Given the description of an element on the screen output the (x, y) to click on. 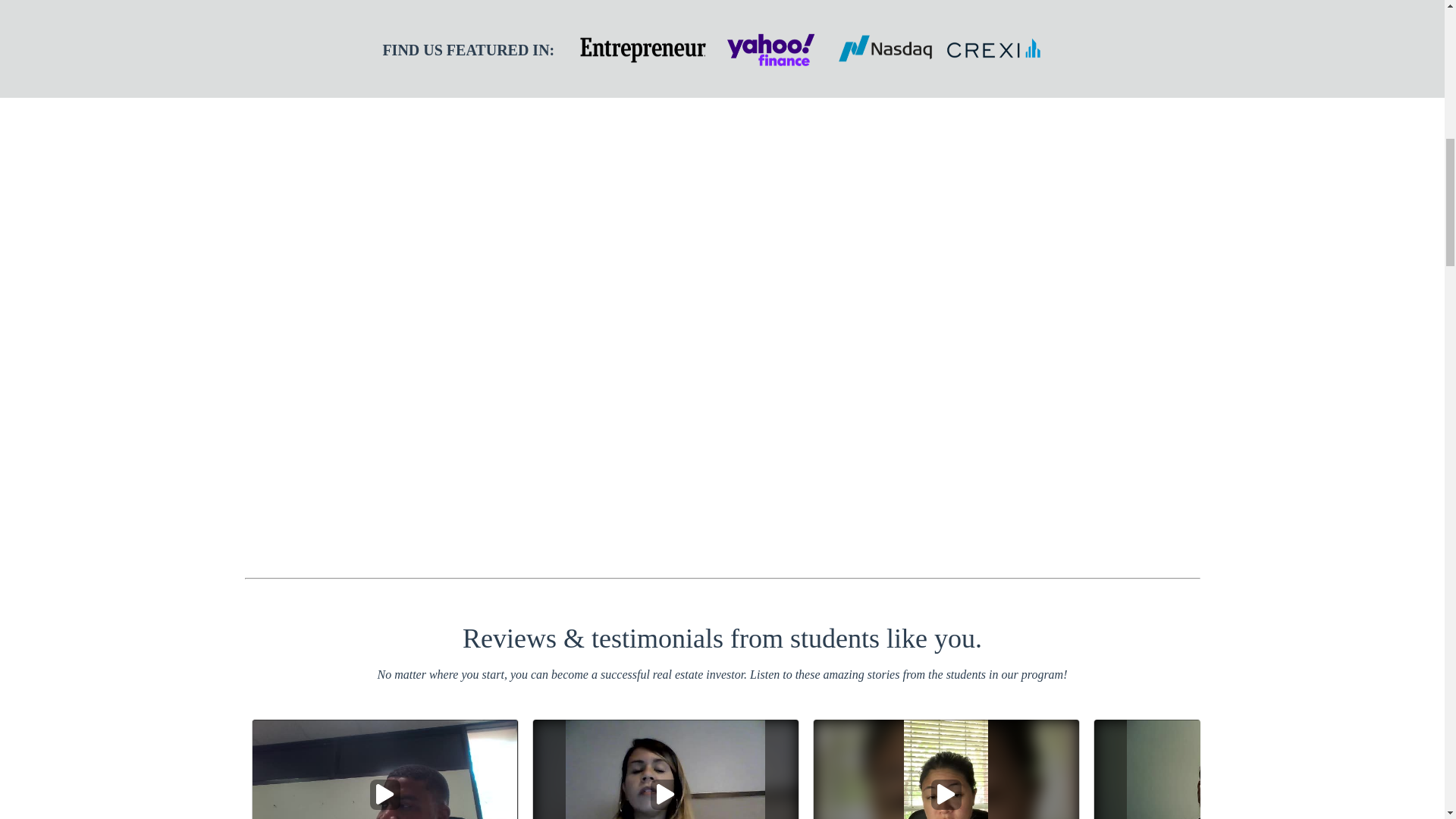
Play video (665, 794)
Play video (945, 794)
Play video (384, 794)
